Given the description of an element on the screen output the (x, y) to click on. 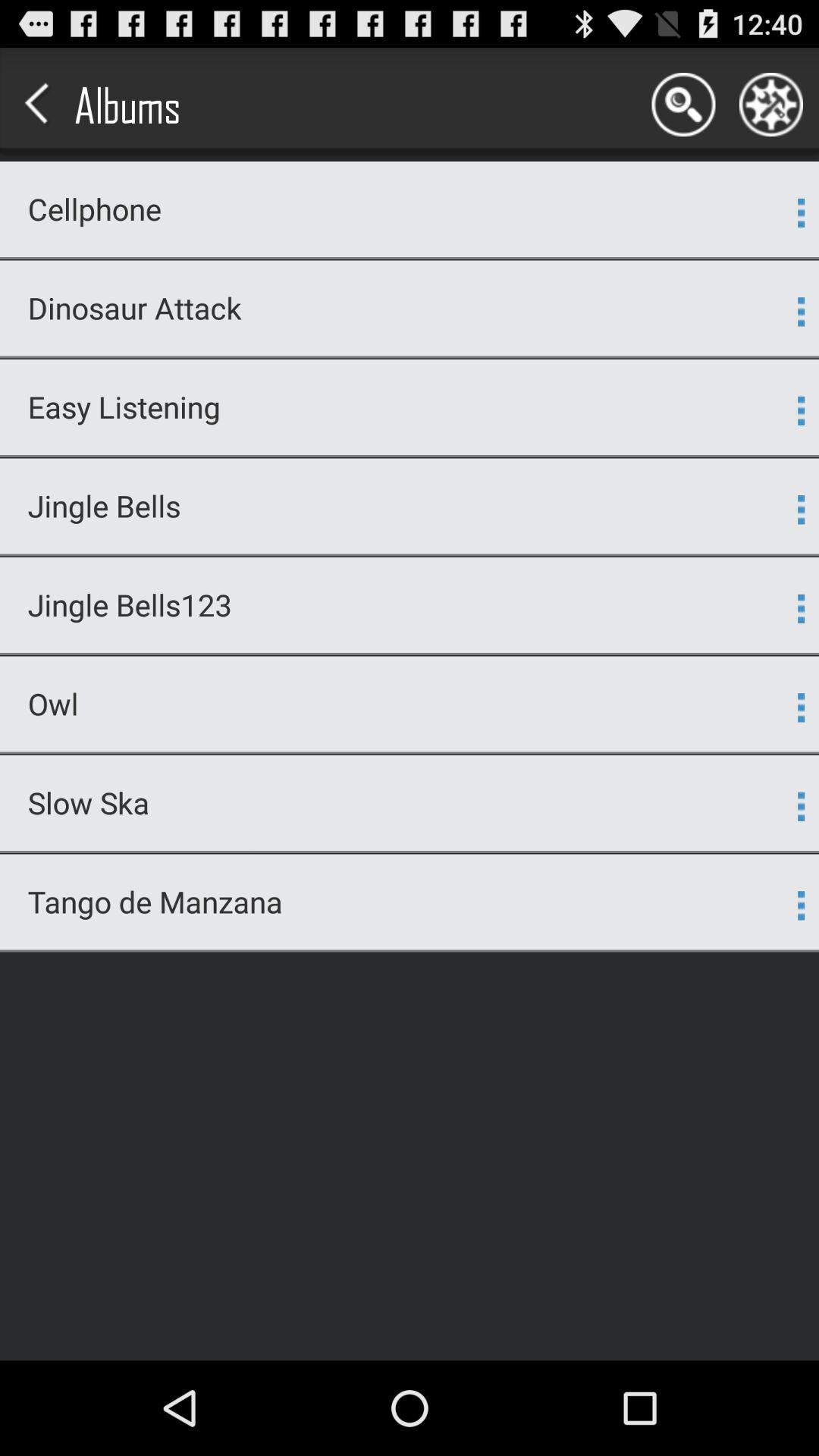
turn on the app above the dinosaur attack item (409, 258)
